Given the description of an element on the screen output the (x, y) to click on. 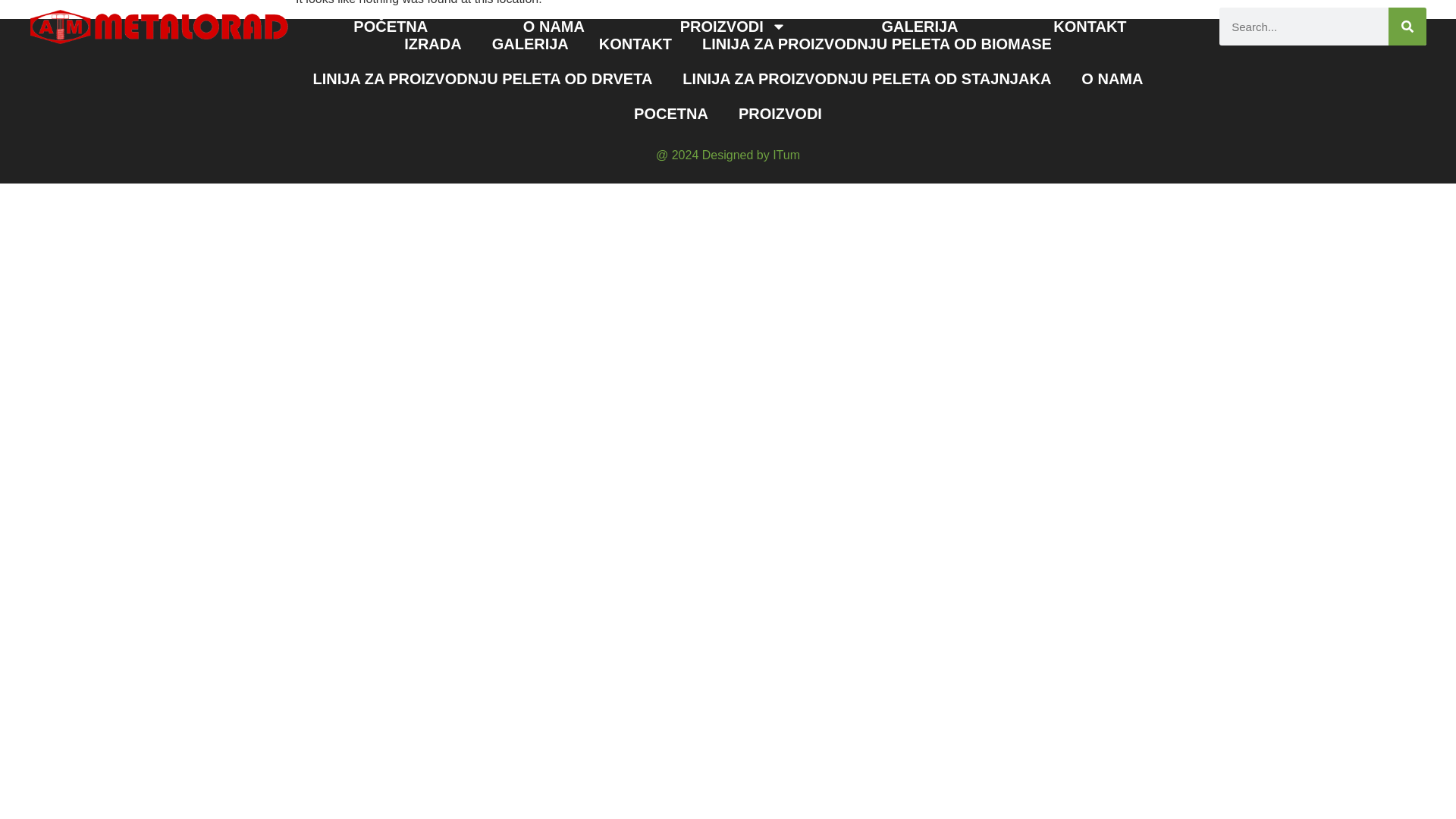
KONTAKT (1089, 26)
PROIZVODI (732, 26)
GALERIJA (530, 43)
IZRADA (432, 43)
GALERIJA (920, 26)
LINIJA ZA PROIZVODNJU PELETA OD DRVETA (483, 78)
KONTAKT (635, 43)
LINIJA ZA PROIZVODNJU PELETA OD BIOMASE (877, 43)
O NAMA (553, 26)
